Given the description of an element on the screen output the (x, y) to click on. 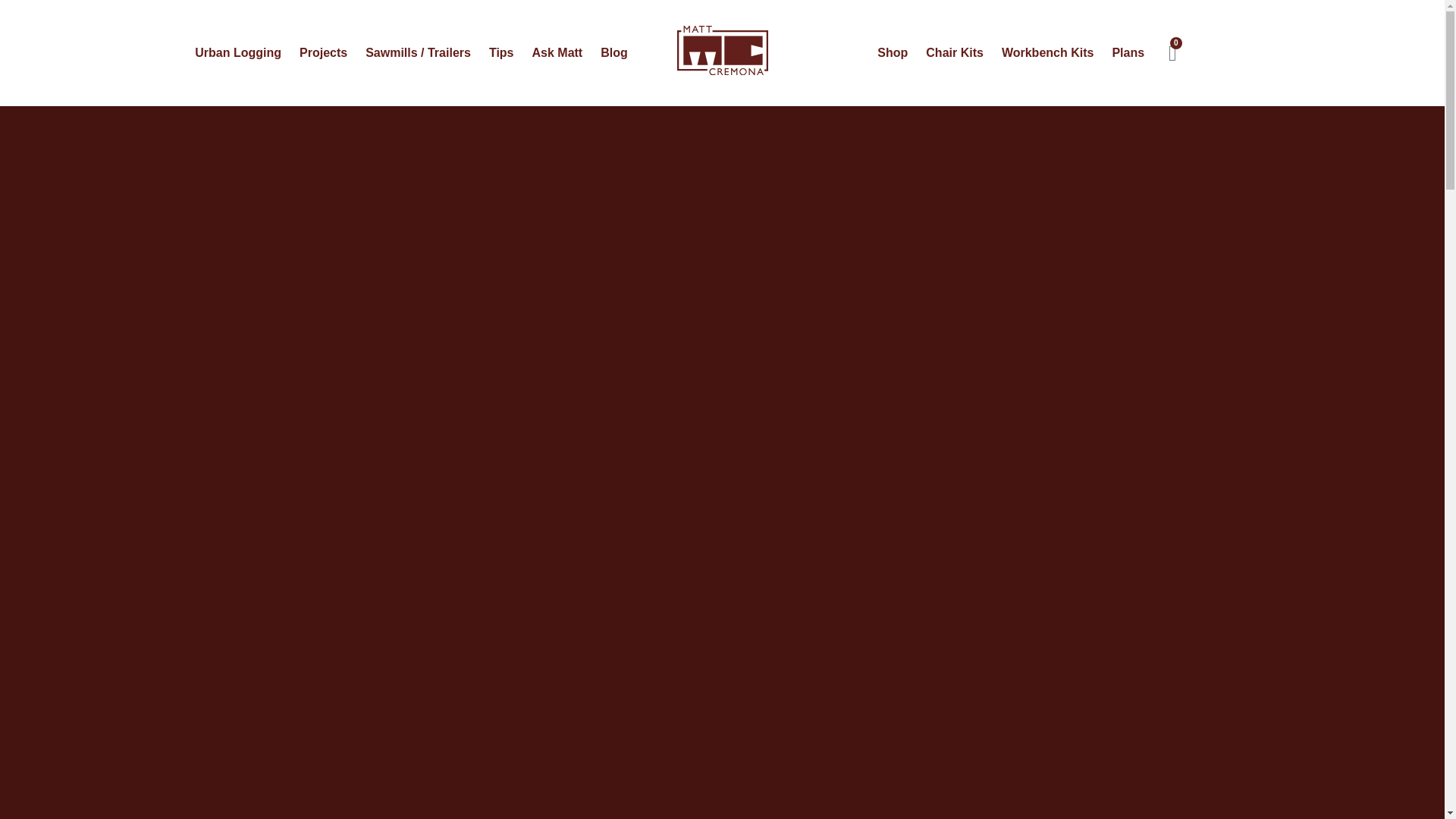
Projects (323, 52)
Shop (892, 52)
Chair Kits (955, 52)
Workbench Kits (1047, 52)
Urban Logging (237, 52)
0 (1172, 53)
Ask Matt (557, 52)
Tips (501, 52)
Plans (1127, 52)
Blog (613, 52)
